Given the description of an element on the screen output the (x, y) to click on. 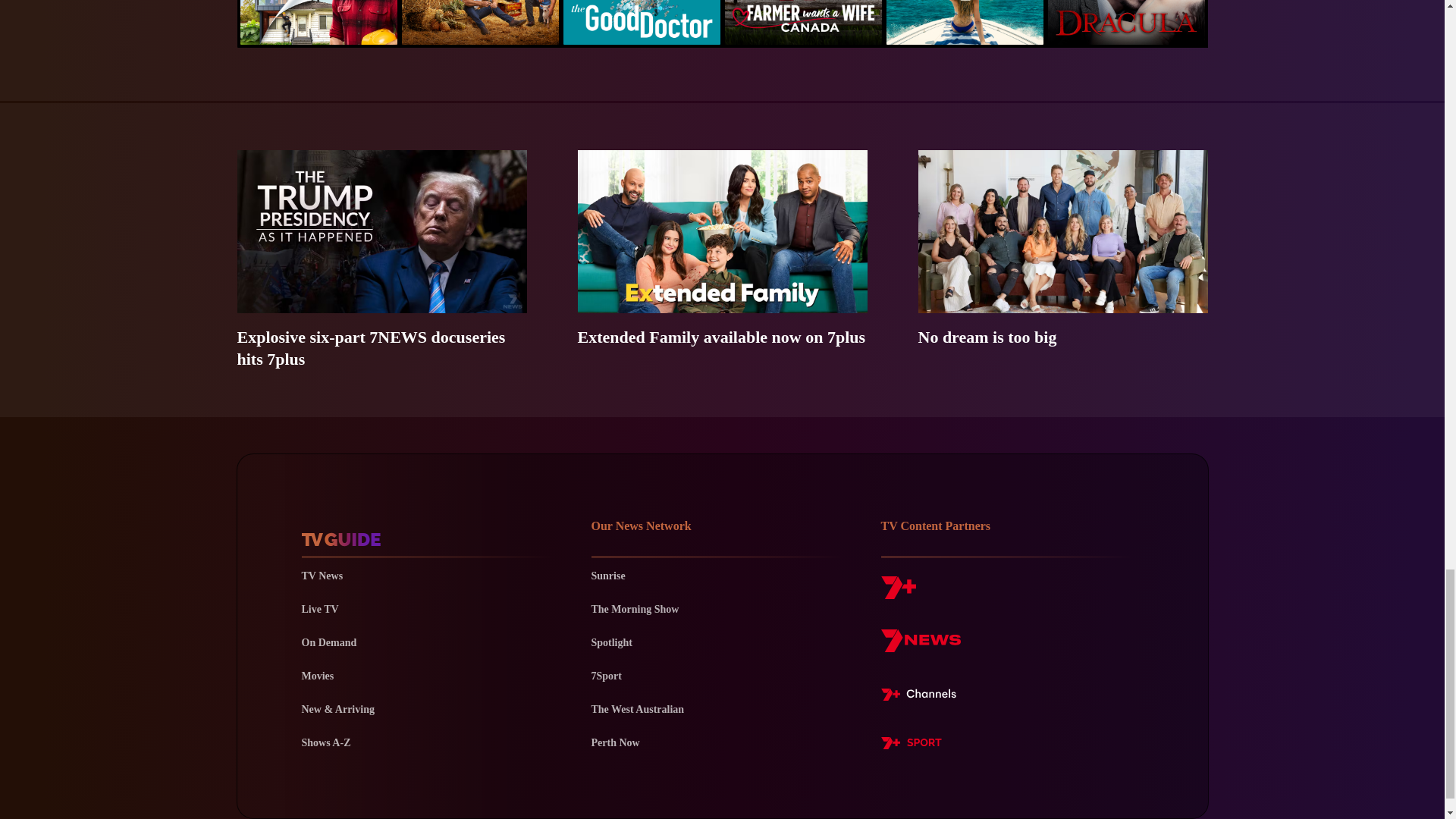
Explosive six-part 7NEWS docuseries hits 7plus (380, 259)
No dream is too big (1062, 259)
Extended Family available now on 7plus (722, 259)
